Given the description of an element on the screen output the (x, y) to click on. 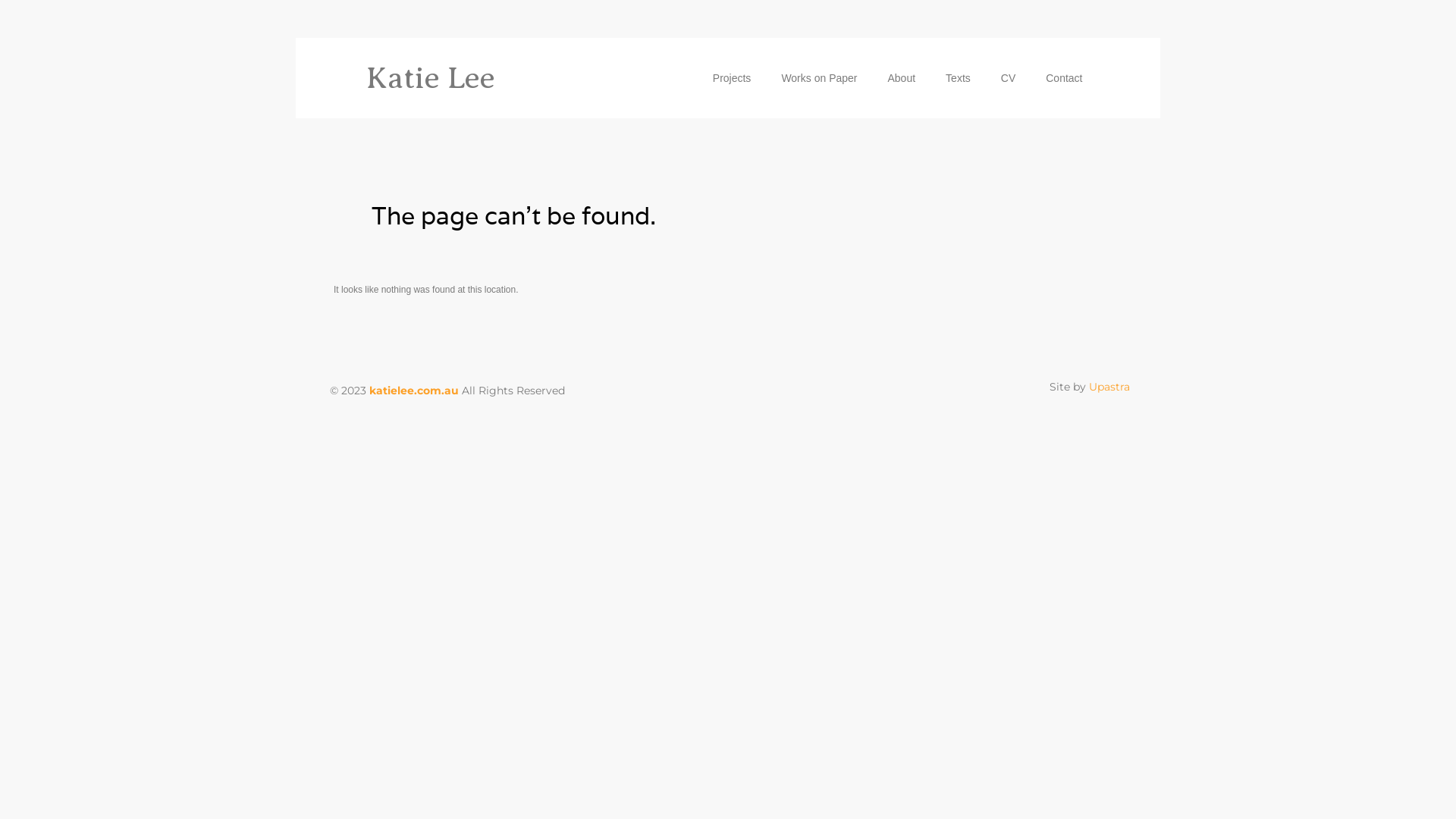
Projects Element type: text (731, 77)
Texts Element type: text (957, 77)
Katie Lee Element type: text (429, 77)
Upastra Element type: text (1108, 386)
Contact Element type: text (1063, 77)
CV Element type: text (1007, 77)
About Element type: text (901, 77)
Works on Paper Element type: text (818, 77)
katielee.com.au Element type: text (413, 390)
